Given the description of an element on the screen output the (x, y) to click on. 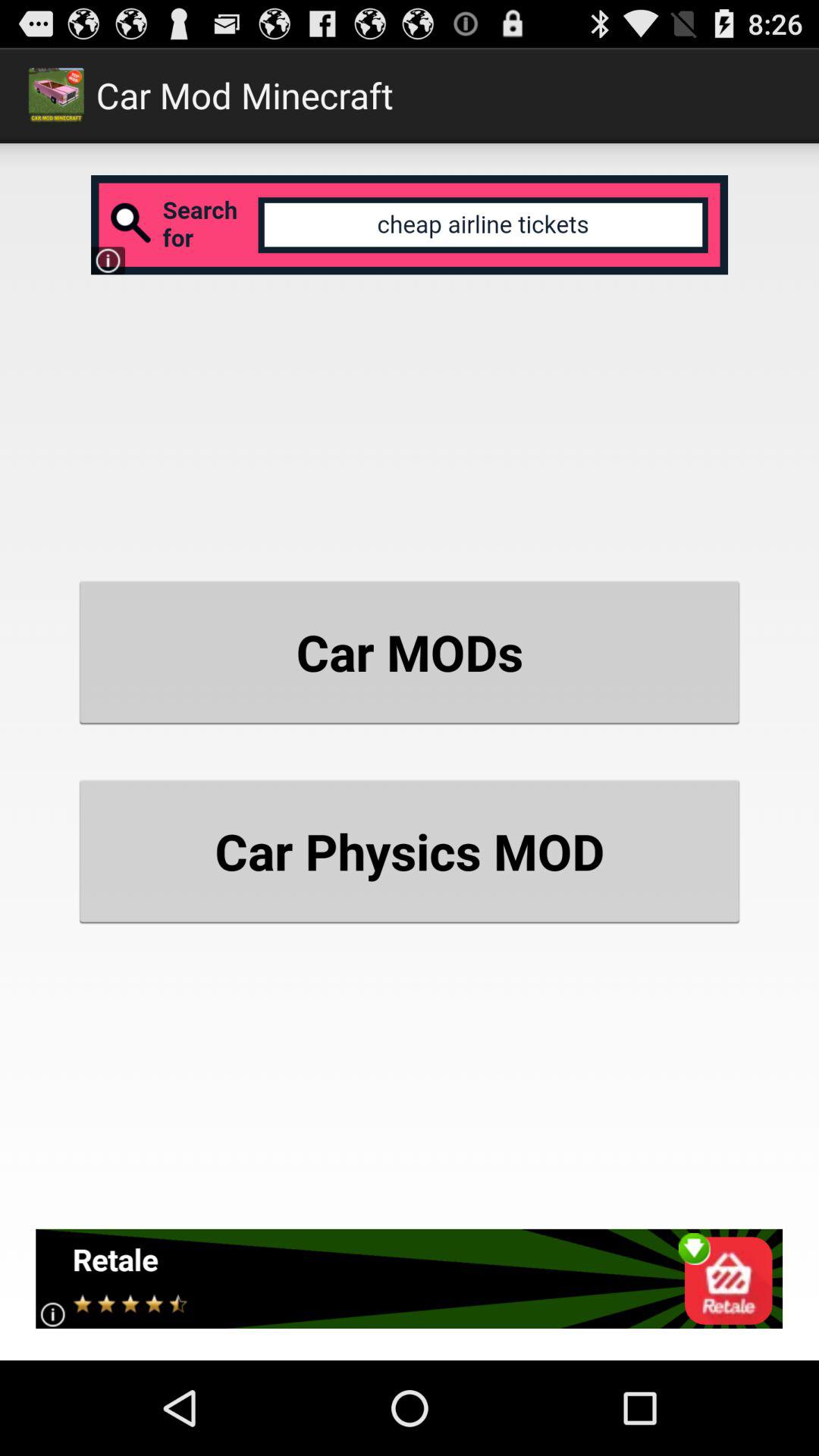
advertisement (409, 224)
